Given the description of an element on the screen output the (x, y) to click on. 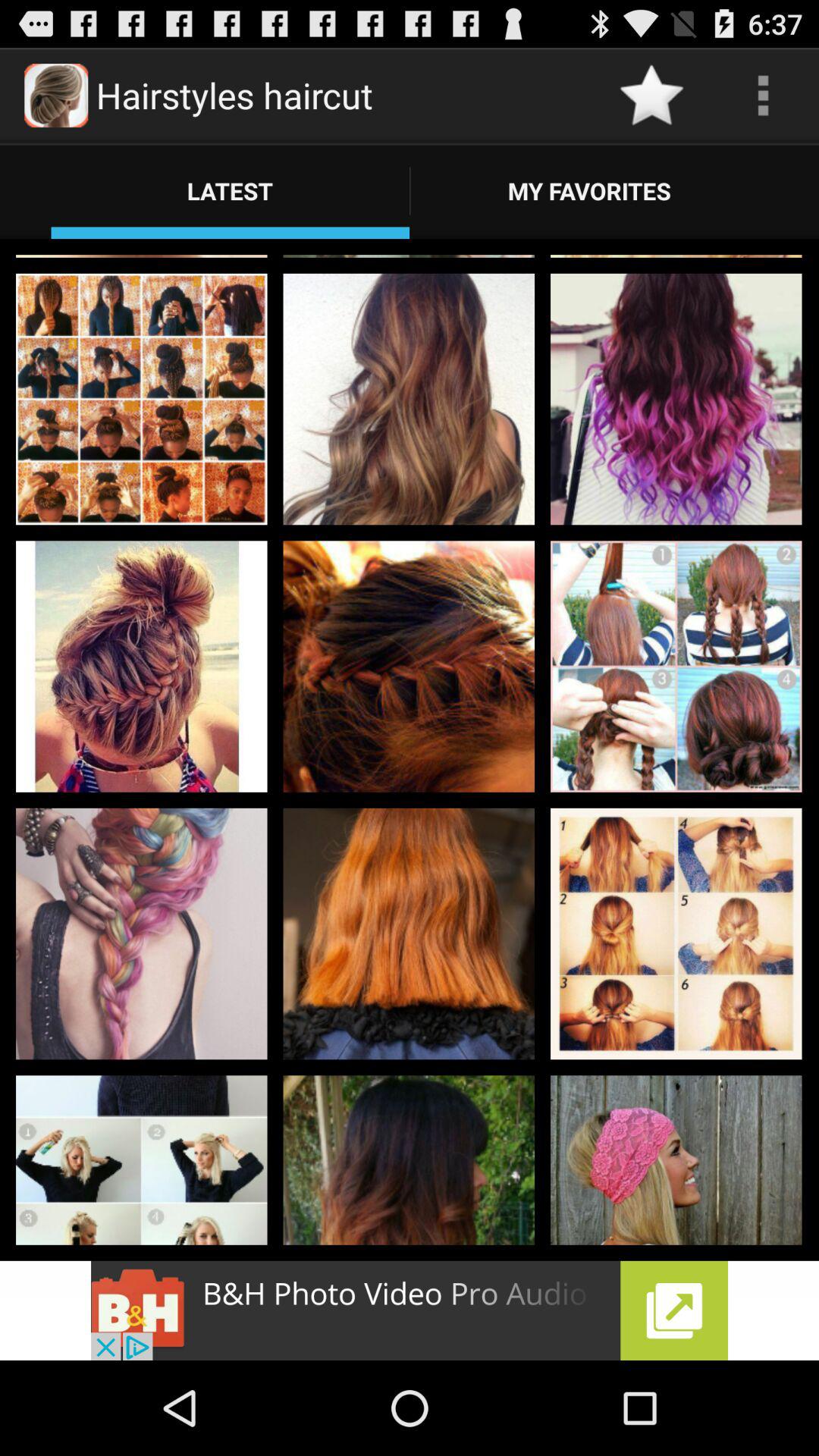
know about the advertisement (409, 1310)
